Given the description of an element on the screen output the (x, y) to click on. 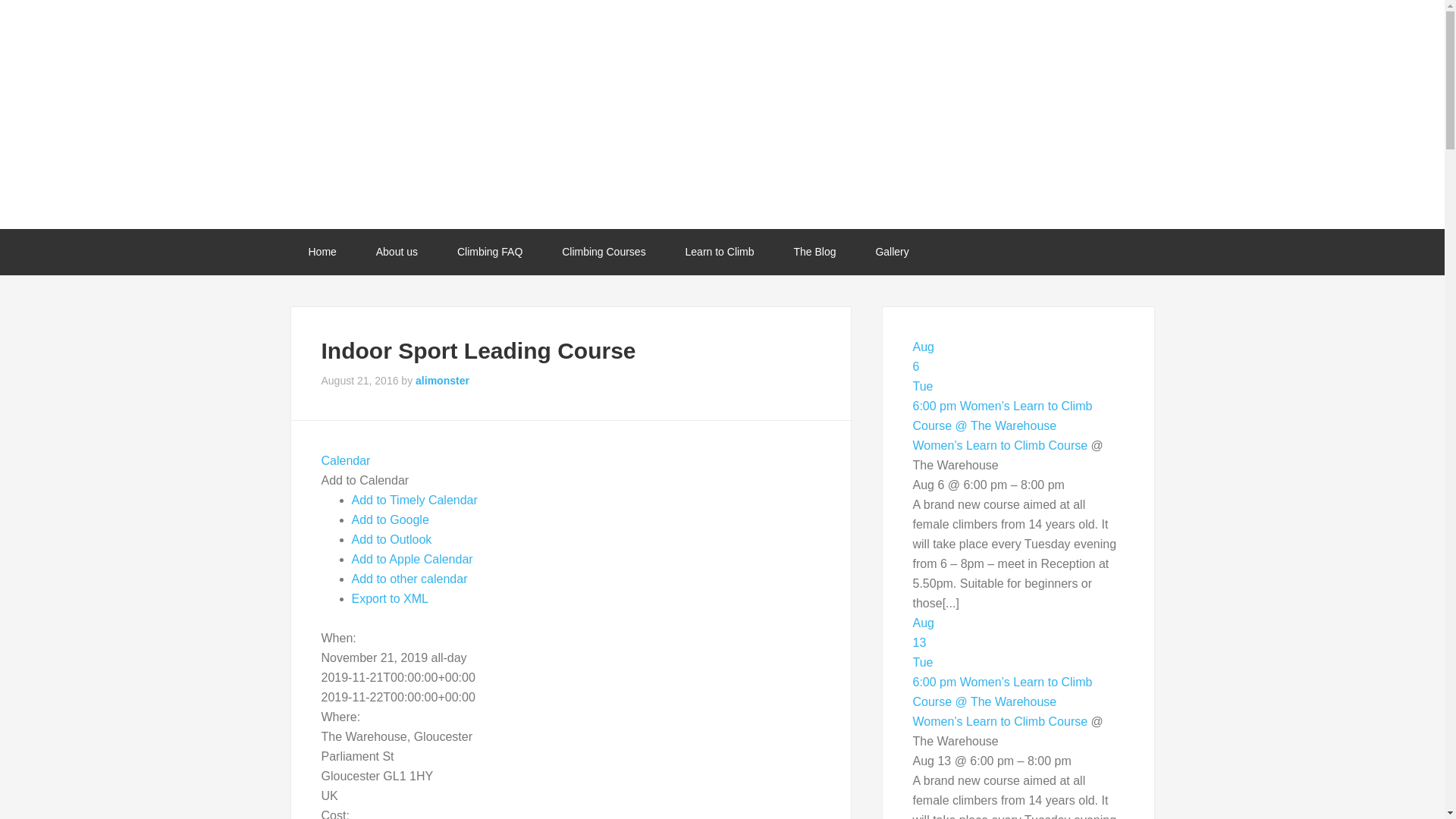
Add to Timely Calendar (414, 499)
Climbing Courses (603, 252)
Add to Outlook (1018, 366)
Learn to Climb (392, 539)
Home (719, 252)
Subscribe to this calendar in another plain-text calendar (321, 252)
View all events (409, 578)
Climbing FAQ (346, 460)
Subscribe to this calendar in your Google Calendar (489, 252)
About us (390, 519)
Gallery (396, 252)
Export to XML (891, 252)
Calendar (390, 598)
alimonster (346, 460)
